Given the description of an element on the screen output the (x, y) to click on. 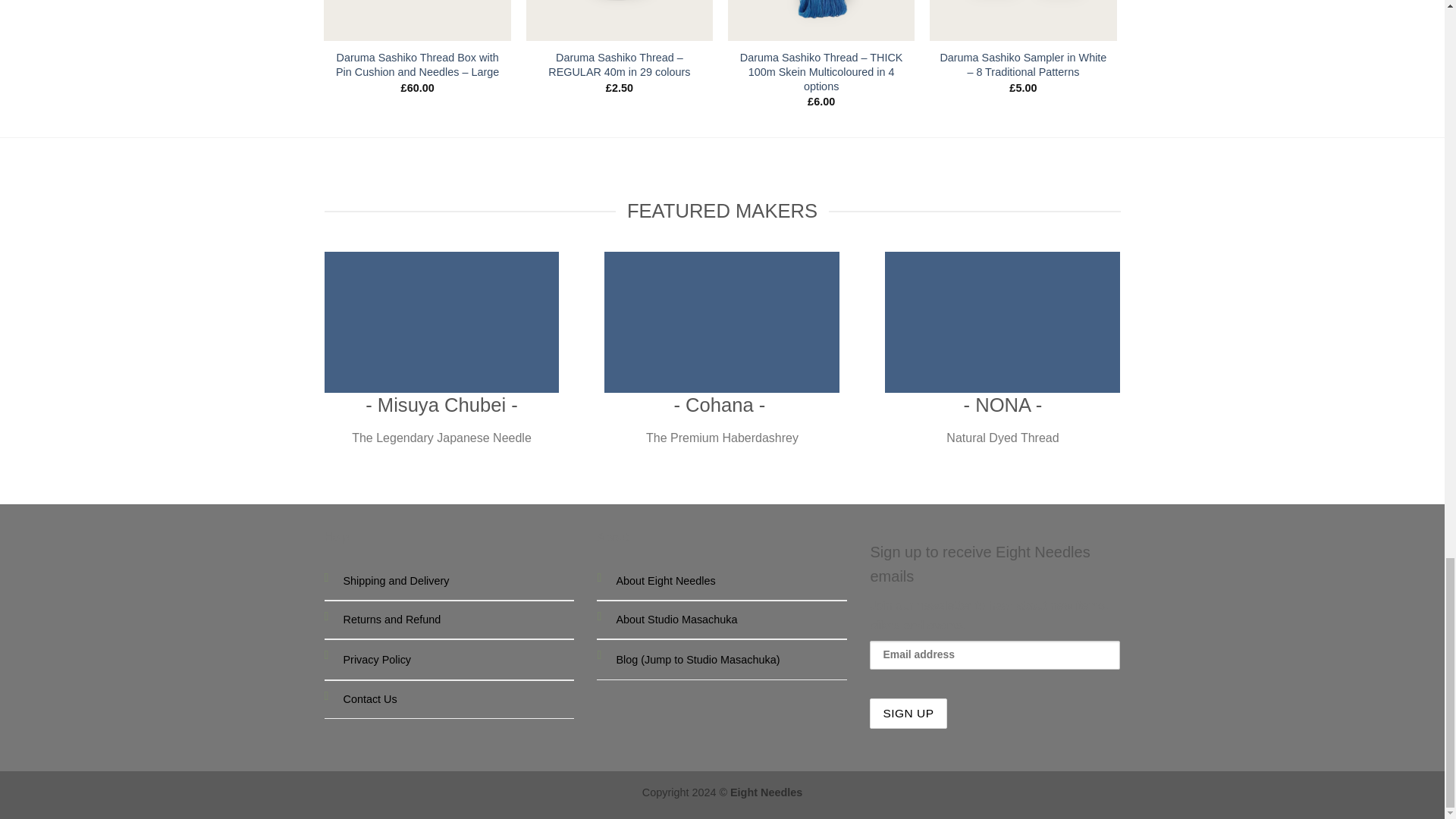
Sign up (907, 713)
